Given the description of an element on the screen output the (x, y) to click on. 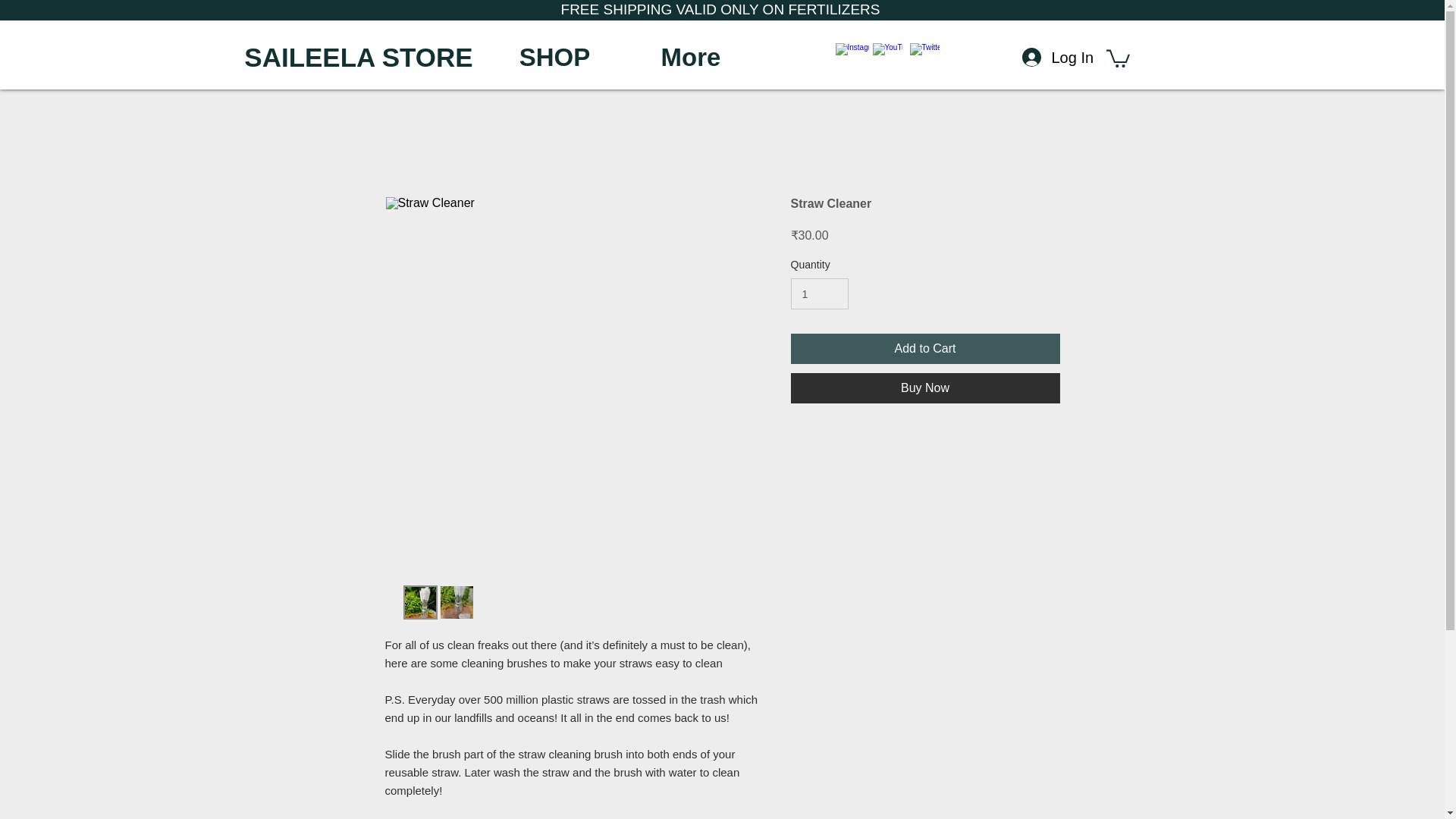
Log In (1042, 57)
SAILEELA STORE (358, 57)
Buy Now (924, 388)
1 (818, 293)
Add to Cart (924, 348)
